Given the description of an element on the screen output the (x, y) to click on. 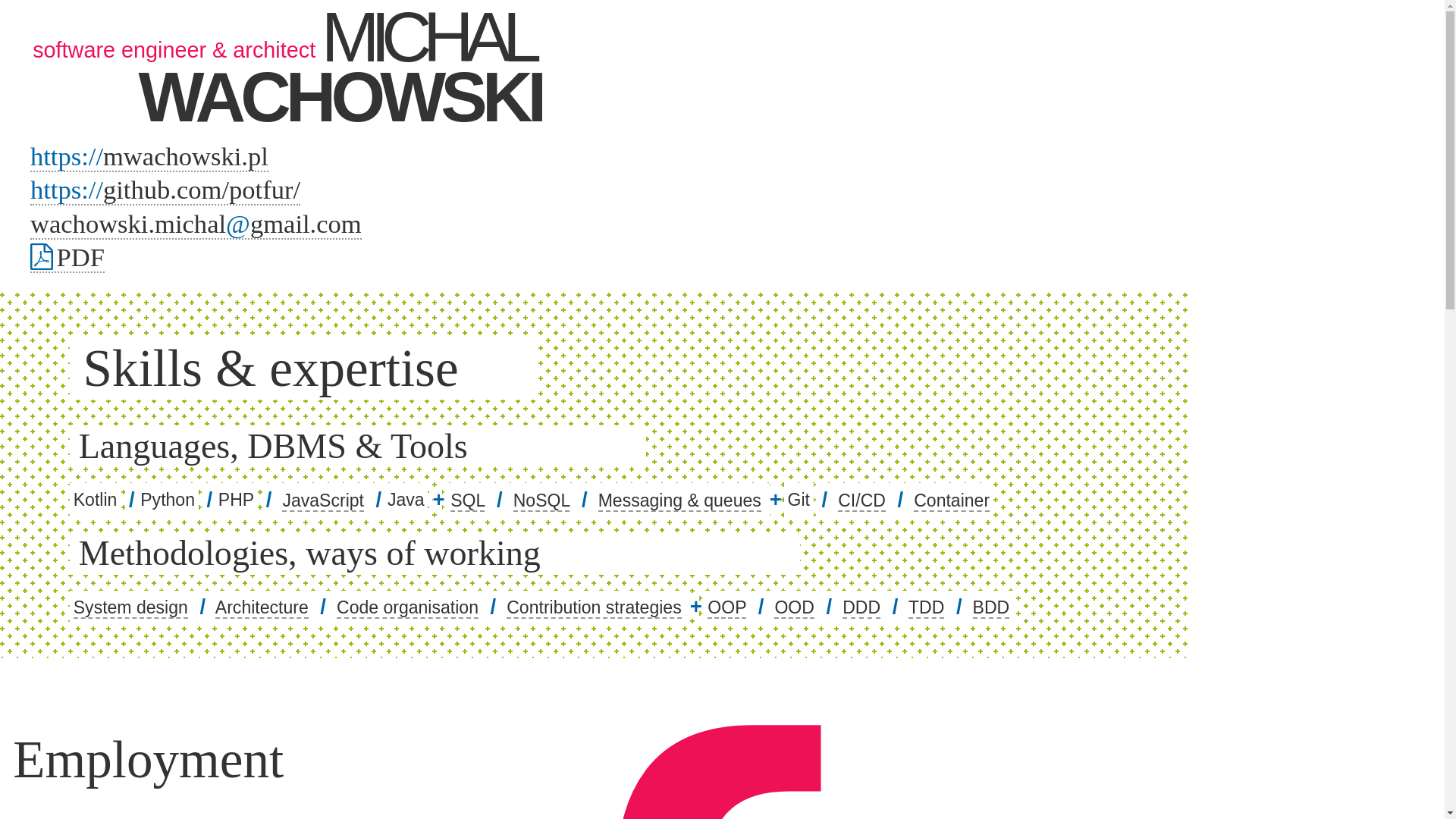
MongoDB, DynamoDB, Redis (541, 500)
PostgreSQL, MySQL, SQLite (466, 500)
GitLab, GitHub, Jenkins (861, 500)
PDF (67, 257)
Monorepo, Multirepo (407, 608)
Docker, JIB (952, 500)
